Given the description of an element on the screen output the (x, y) to click on. 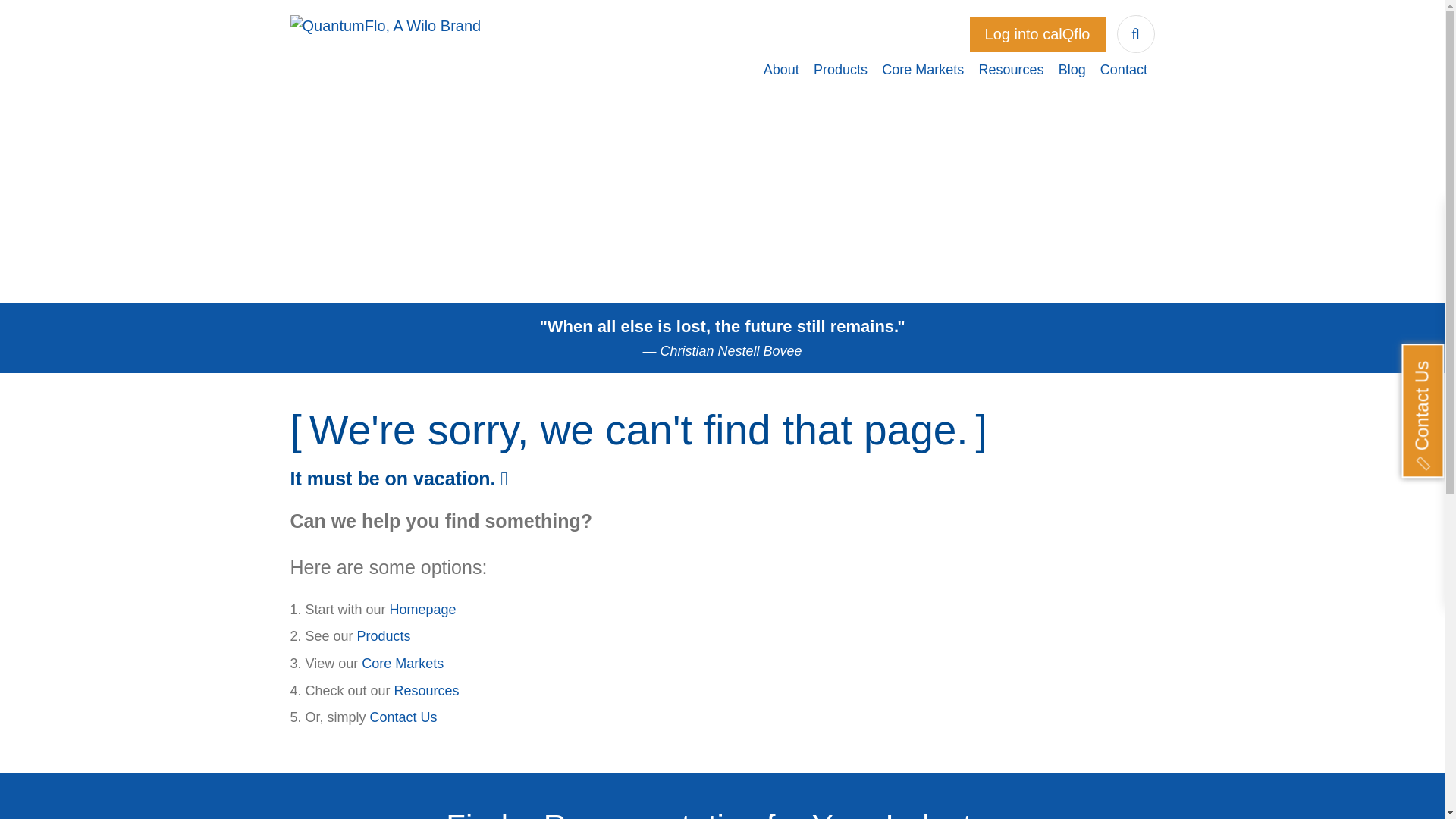
Core Markets (923, 70)
Log into calQflo (1037, 33)
Products (840, 70)
Contact Us (403, 717)
Core Markets (402, 663)
Resources (427, 690)
Blog (1072, 70)
Products (383, 635)
Resources (1011, 70)
Homepage (423, 609)
